Given the description of an element on the screen output the (x, y) to click on. 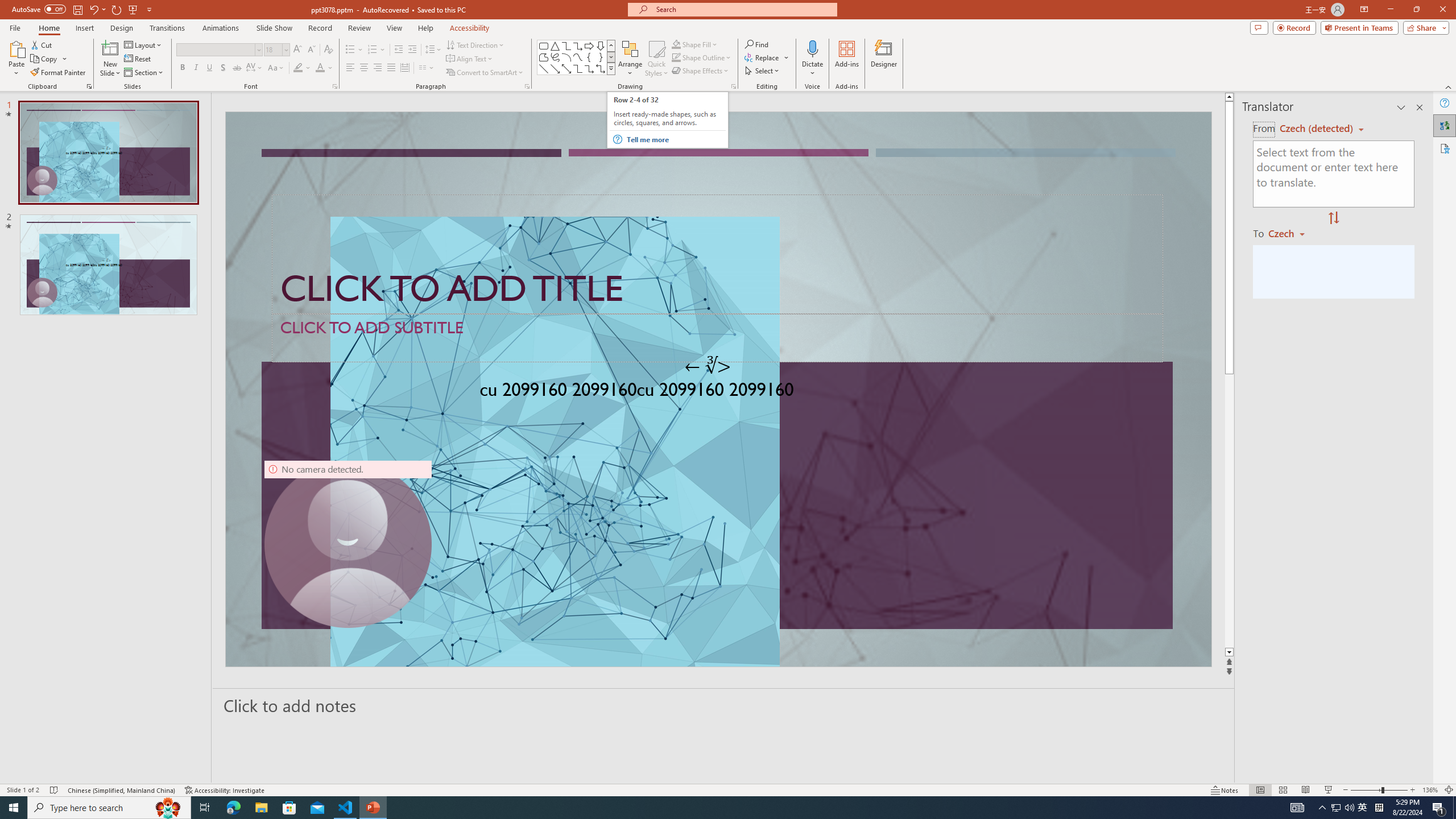
Select (762, 69)
AutomationID: ShapesInsertGallery (576, 57)
Quick Styles (656, 58)
Shape Effects (700, 69)
TextBox 61 (716, 391)
